Given the description of an element on the screen output the (x, y) to click on. 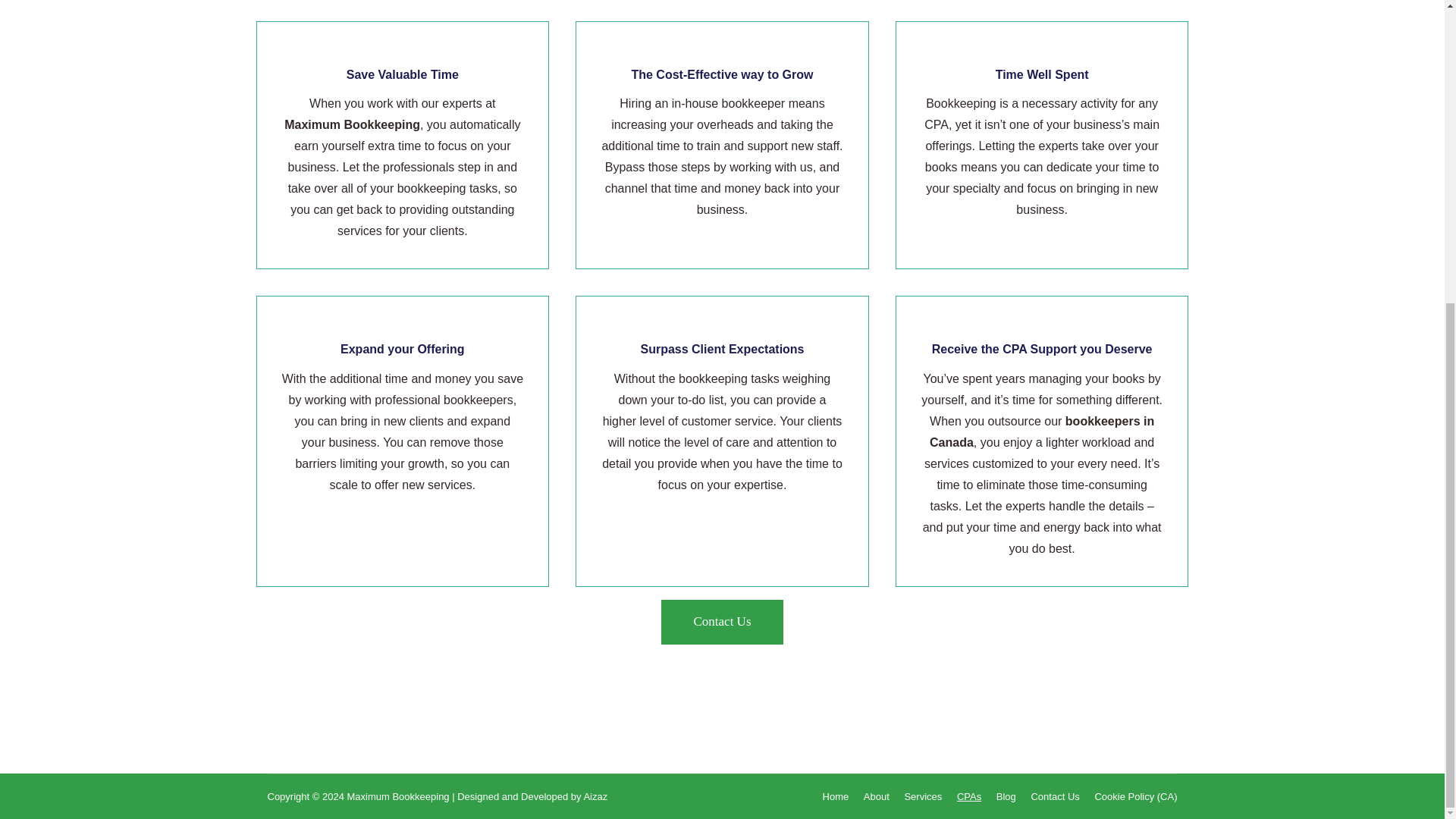
Home (835, 796)
Contact Us (722, 621)
Contact Us (1054, 796)
Blog (1005, 796)
CPAs (968, 796)
About (876, 796)
Aizaz (595, 796)
Contact Us (722, 621)
Services (923, 796)
